Given the description of an element on the screen output the (x, y) to click on. 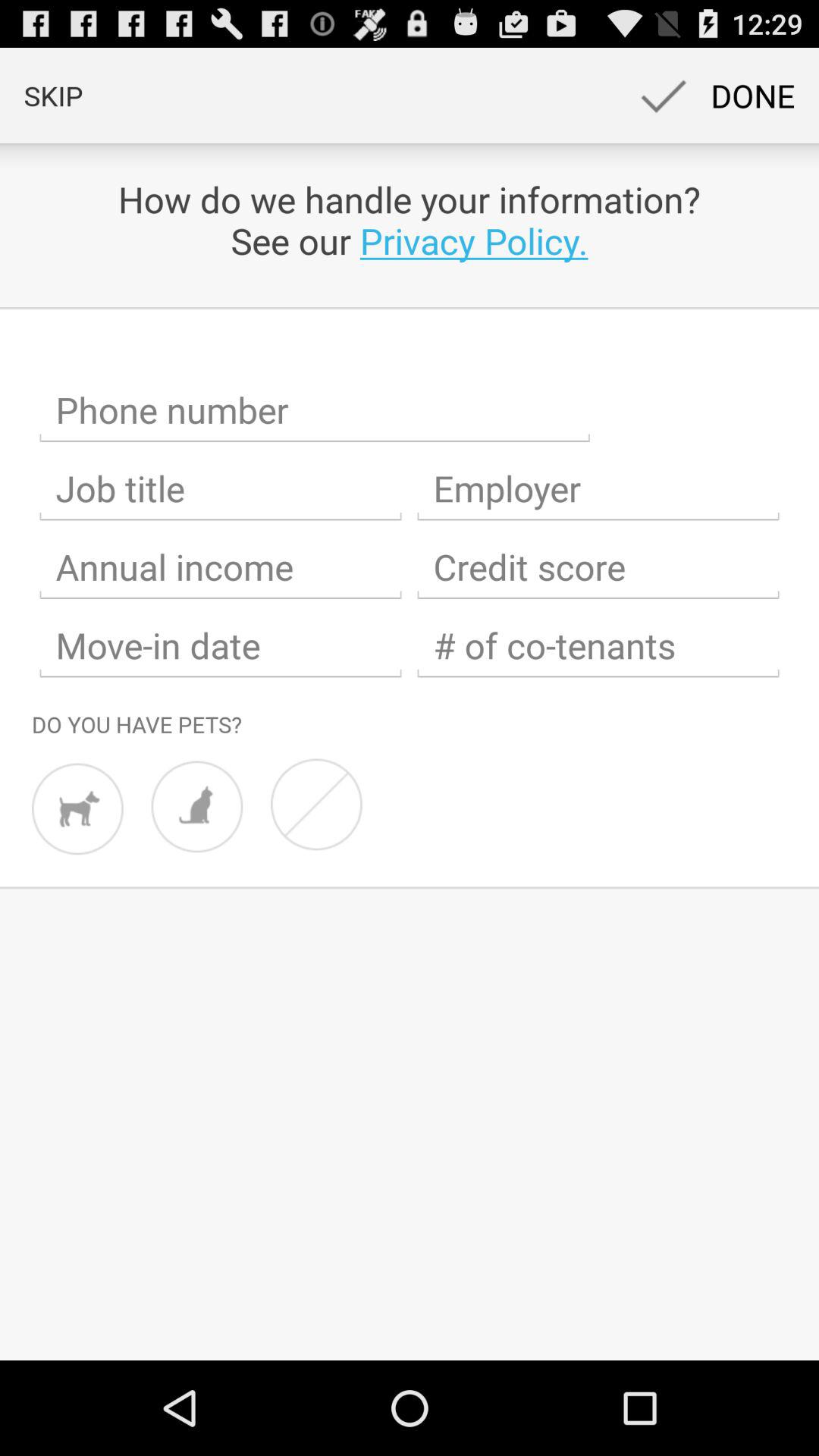
input income (220, 567)
